Given the description of an element on the screen output the (x, y) to click on. 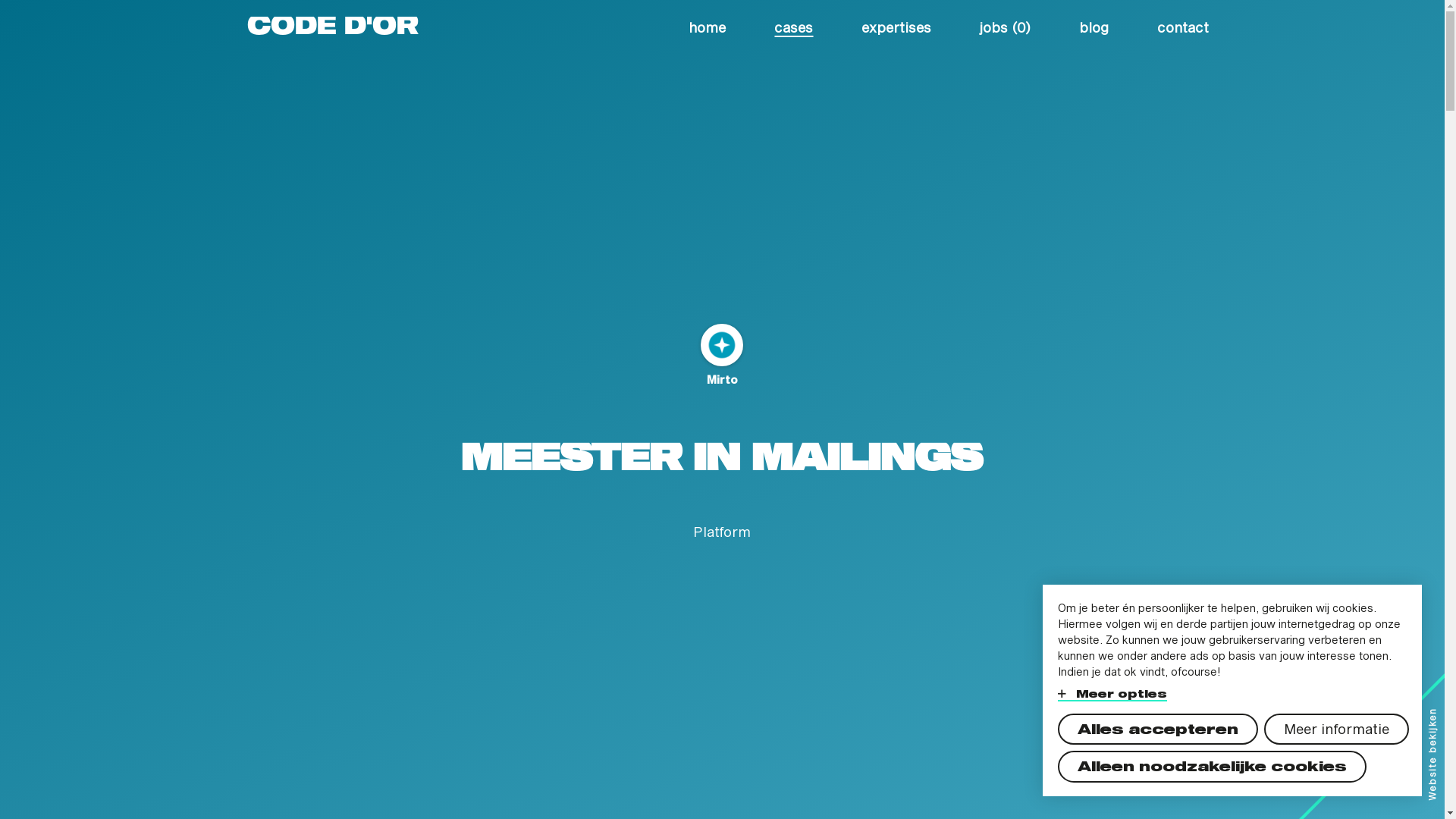
Meer informatie Element type: text (1336, 729)
cases Element type: text (793, 24)
expertises Element type: text (896, 24)
contact Element type: text (1182, 24)
Code d'Or Element type: text (332, 24)
Alleen noodzakelijke cookies Element type: text (1211, 766)
home Element type: text (706, 24)
Meer opties Element type: text (1112, 693)
Alles accepteren Element type: text (1157, 729)
blog Element type: text (1093, 24)
(0)
jobs Element type: text (1004, 24)
